Given the description of an element on the screen output the (x, y) to click on. 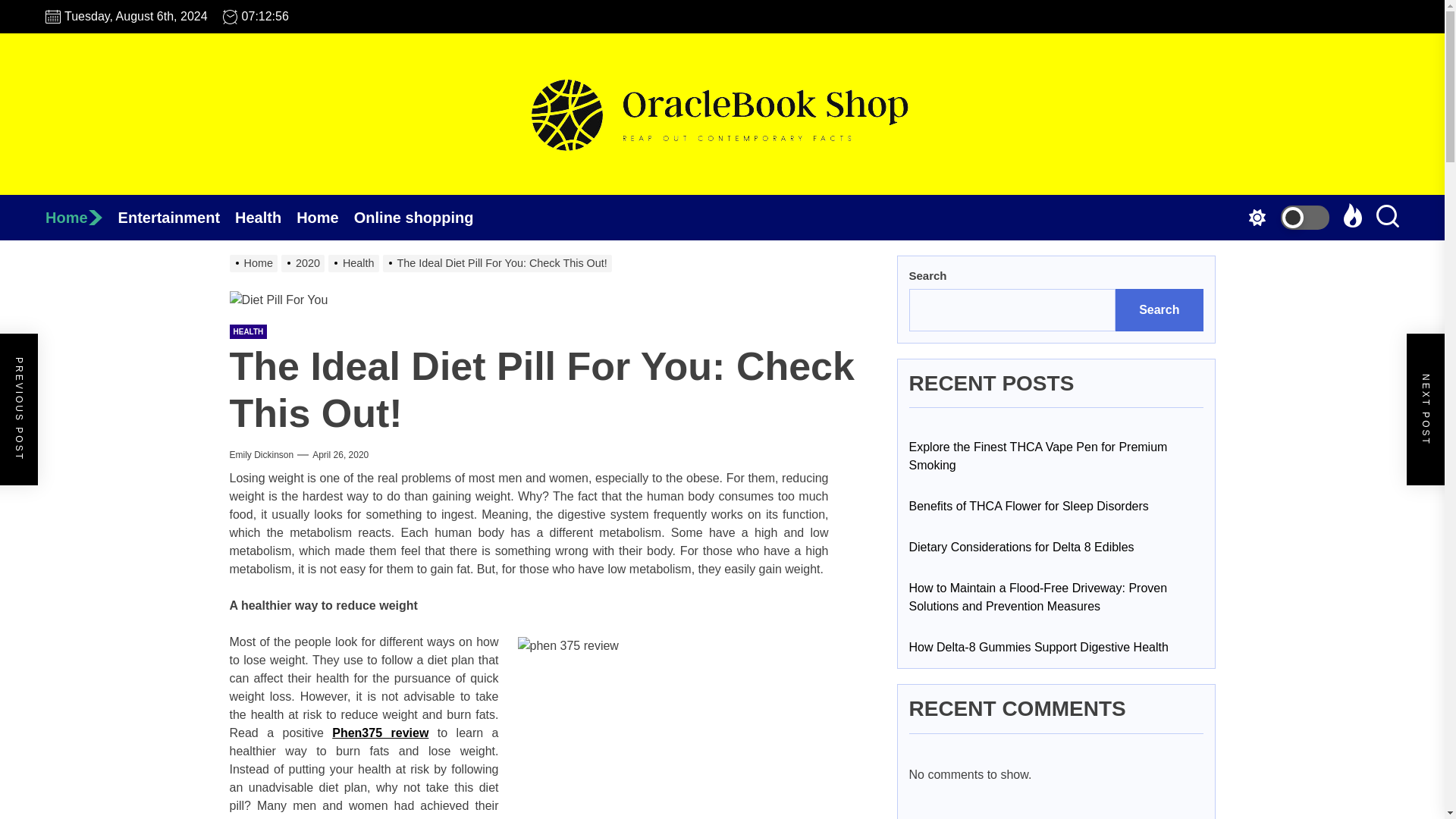
Health (355, 263)
The Ideal Diet Pill For You: Check This Out! (498, 263)
Oracle Book Shop (721, 220)
2020 (305, 263)
Home (81, 217)
Home (81, 217)
Online shopping (421, 217)
Entertainment (175, 217)
Health (265, 217)
Home (254, 263)
